Given the description of an element on the screen output the (x, y) to click on. 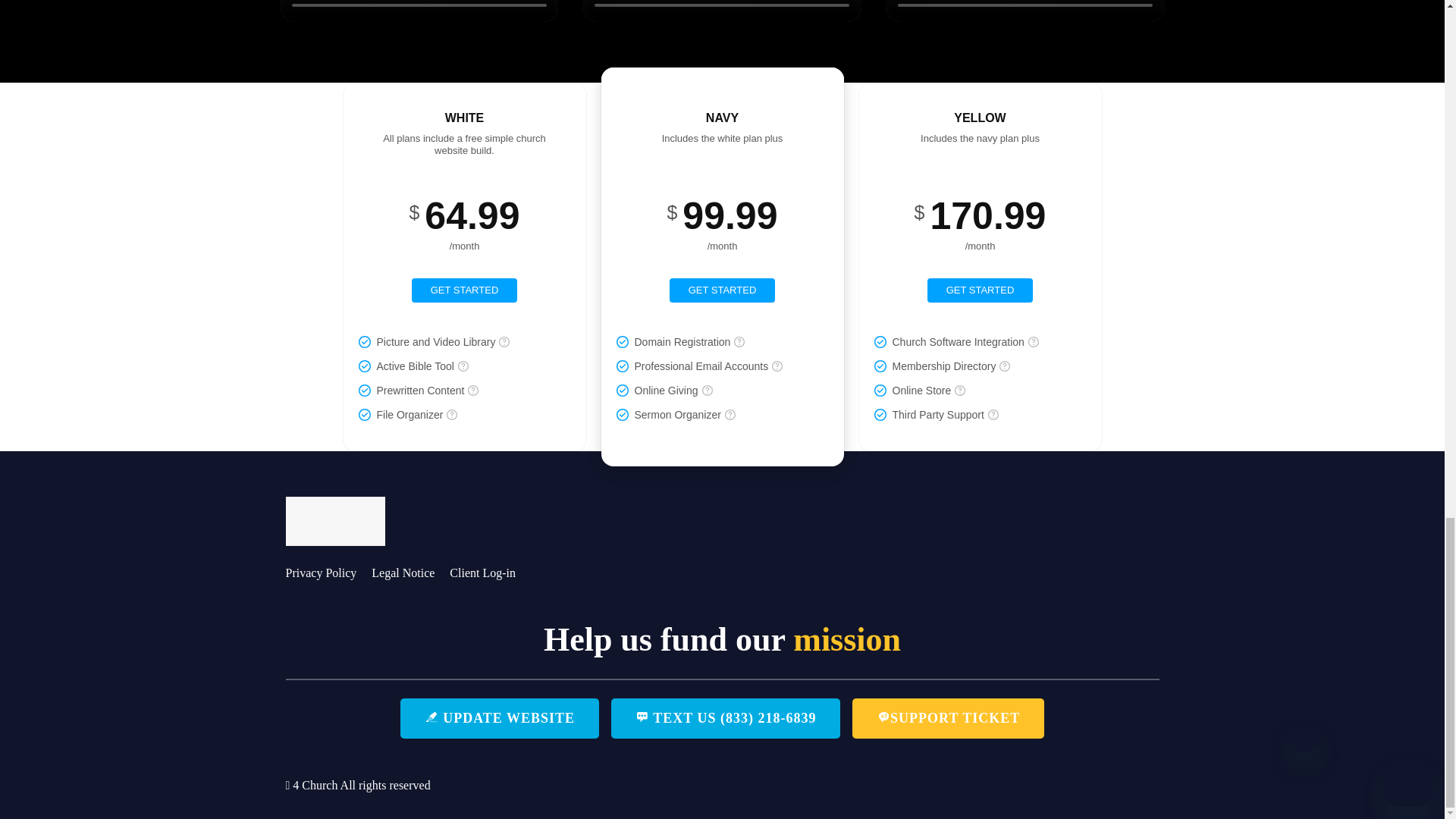
GET STARTED (465, 290)
